Given the description of an element on the screen output the (x, y) to click on. 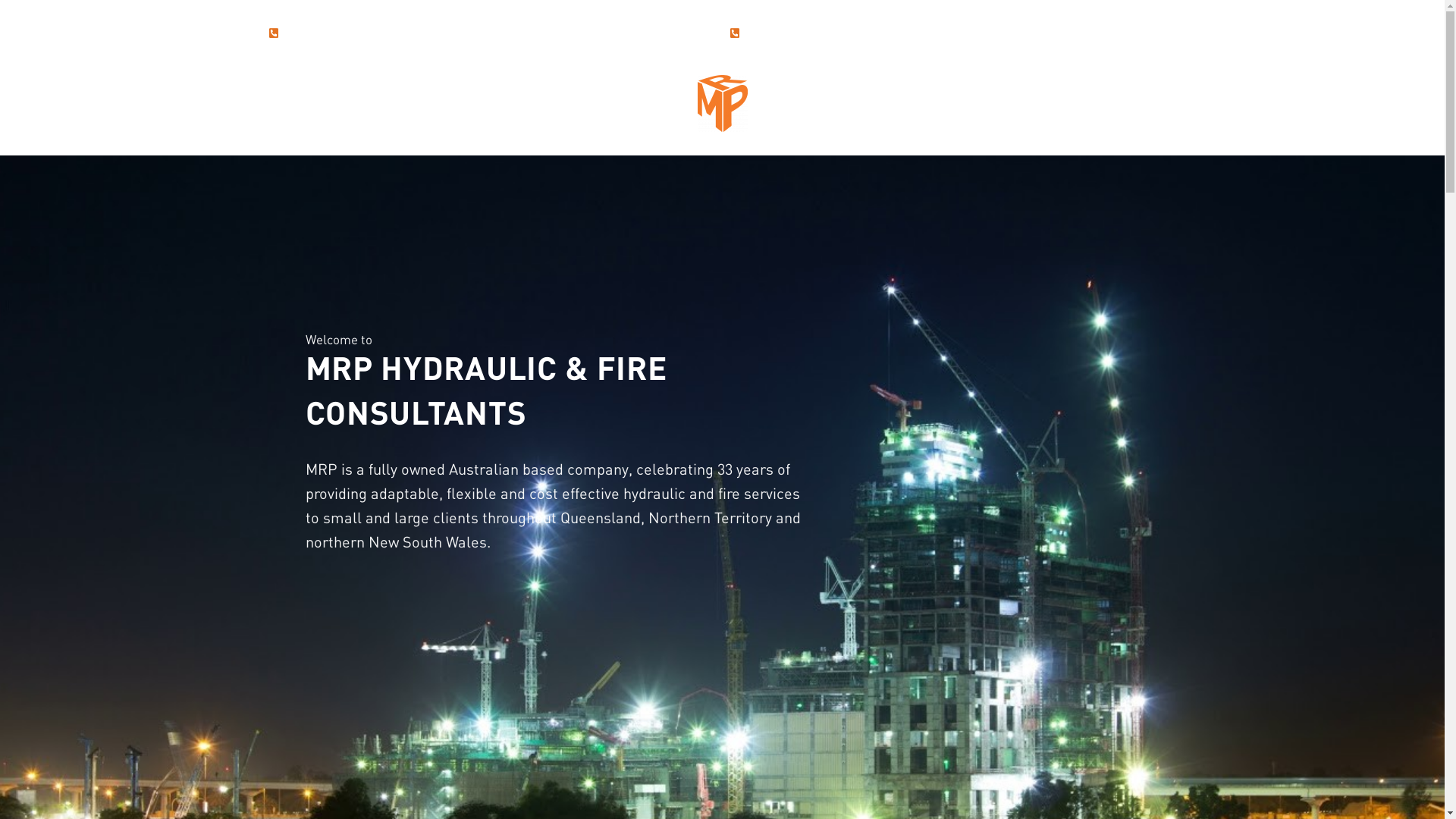
Brisbane: [07] 3452 1400 Element type: text (330, 33)
PROJECTS Element type: text (869, 92)
EXPERTISE Element type: text (571, 92)
Sunshine Coast [07] 5443 1000 Element type: text (807, 33)
CONNECT Element type: text (963, 92)
PROFILE Element type: text (480, 92)
MRP Home Element type: hover (722, 103)
